Given the description of an element on the screen output the (x, y) to click on. 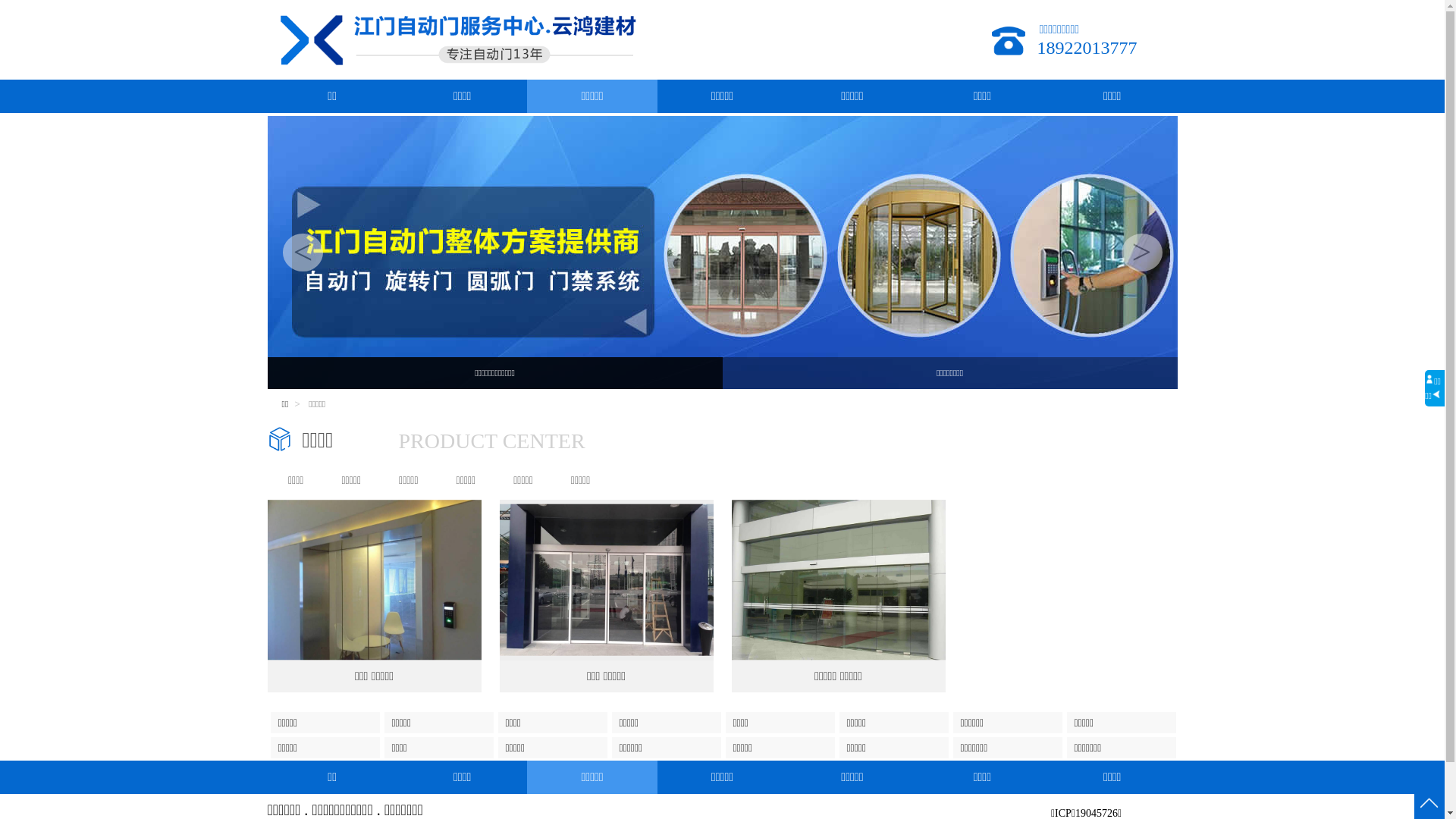
> Element type: text (1141, 252)
< Element type: text (302, 252)
